Given the description of an element on the screen output the (x, y) to click on. 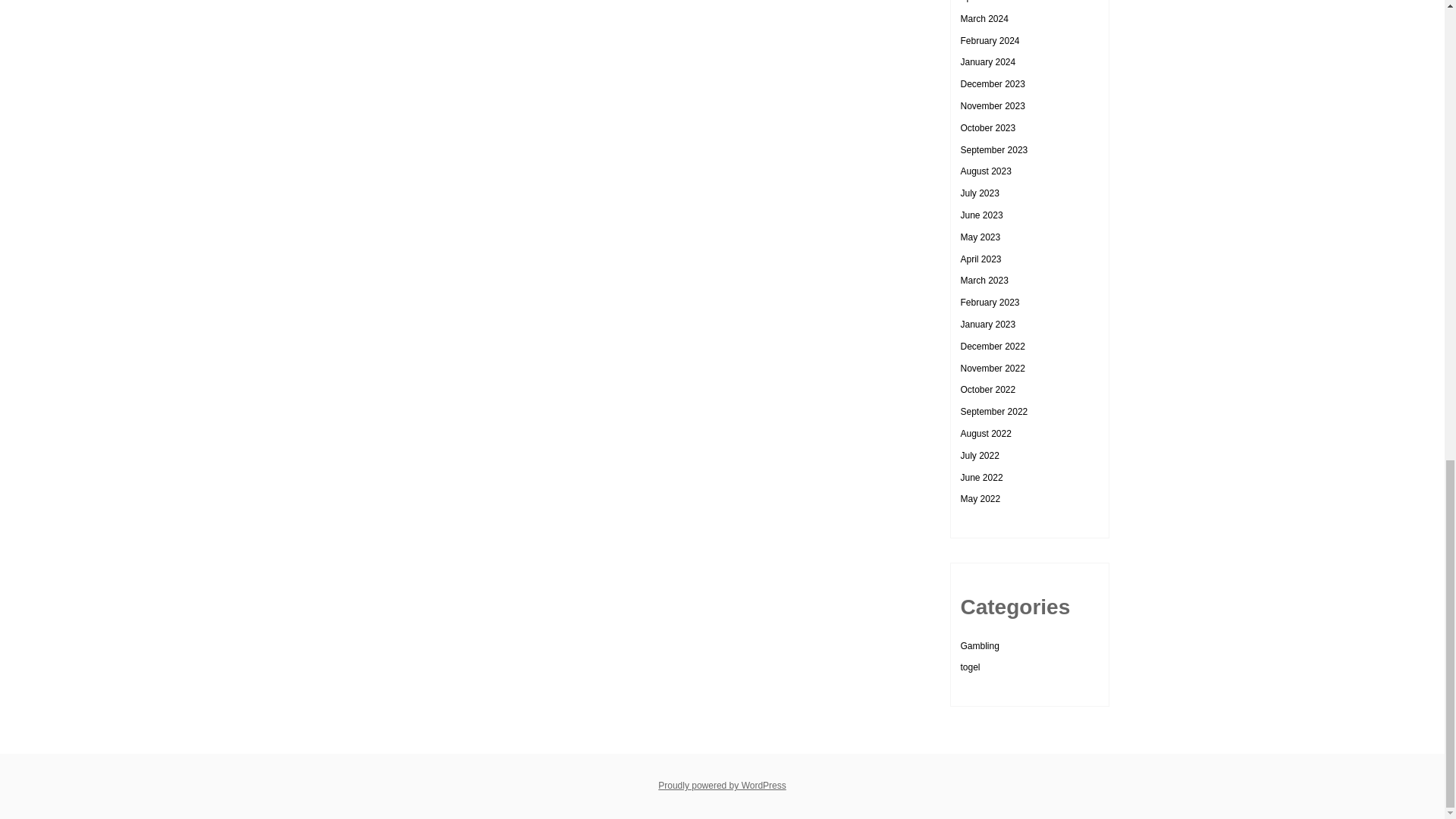
January 2024 (986, 61)
April 2023 (980, 258)
April 2024 (980, 1)
September 2023 (993, 149)
January 2023 (986, 324)
November 2023 (992, 105)
December 2022 (992, 346)
December 2023 (992, 83)
October 2023 (986, 127)
